Given the description of an element on the screen output the (x, y) to click on. 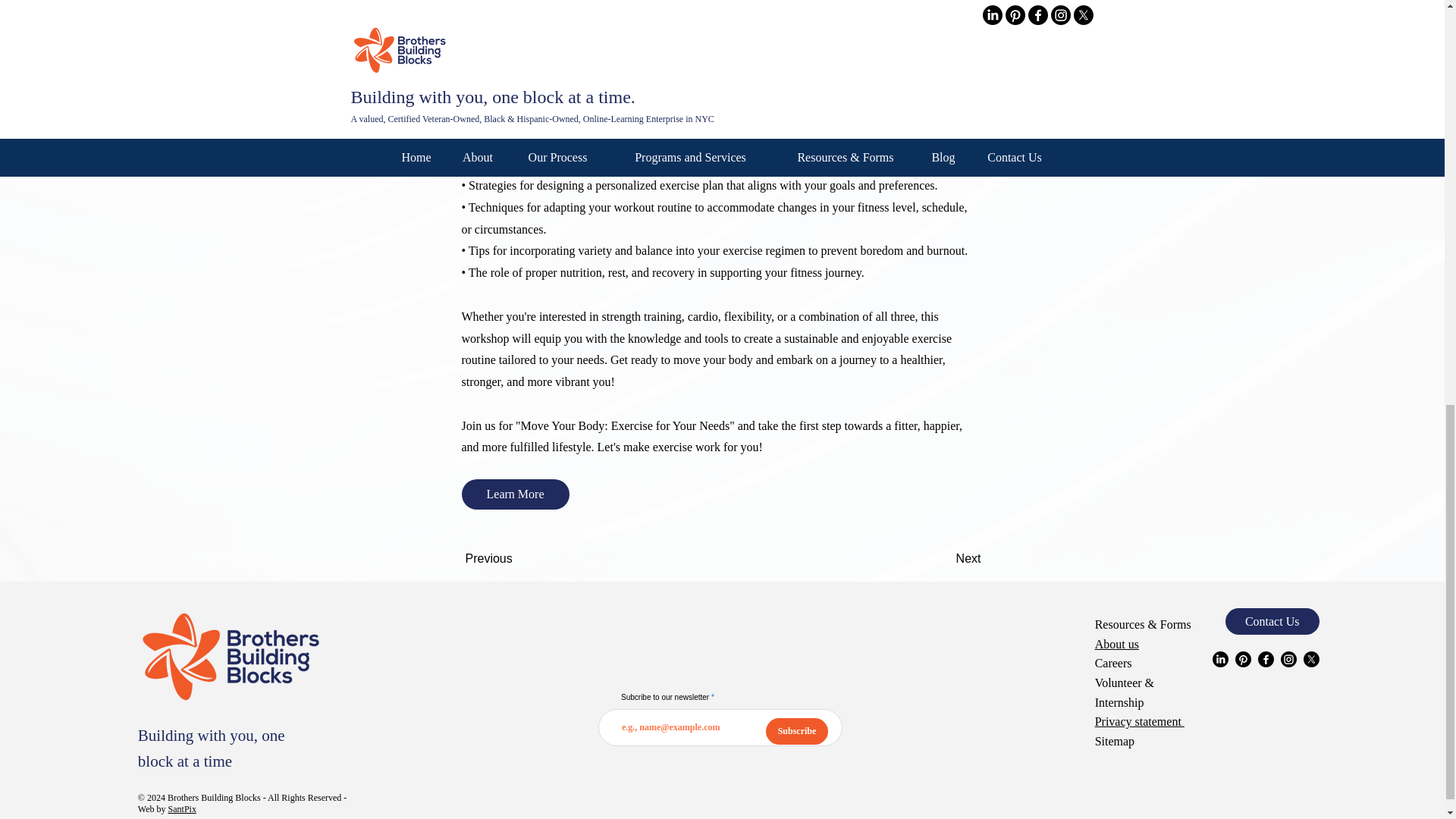
Contact Us (1272, 621)
About us (1116, 644)
Learn More (515, 494)
Privacy statement  (1139, 721)
SantPix (182, 808)
Next (943, 558)
Previous (515, 558)
Subscribe (796, 731)
